Given the description of an element on the screen output the (x, y) to click on. 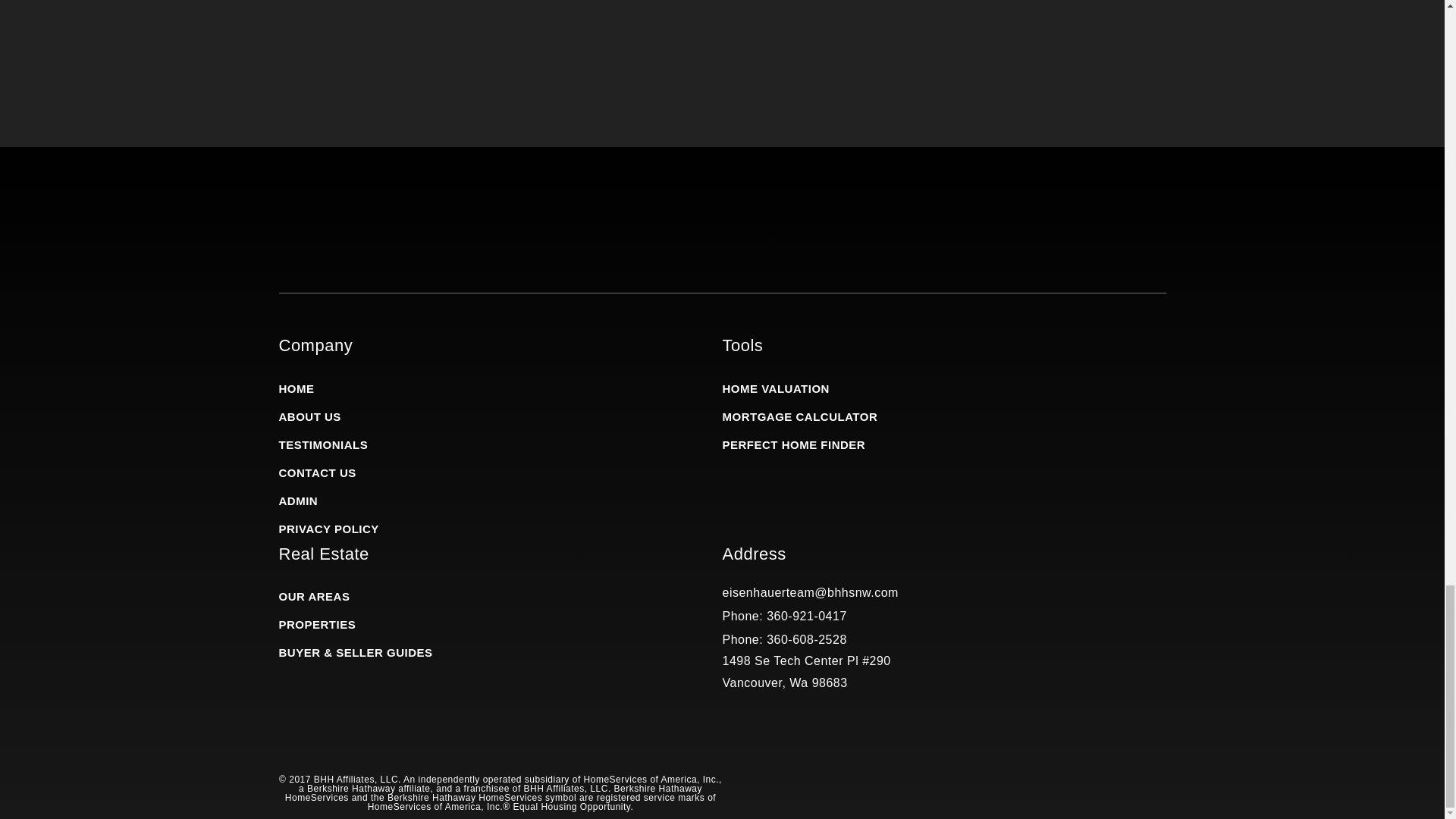
Phone (783, 615)
Phone (783, 639)
Email (810, 592)
